Given the description of an element on the screen output the (x, y) to click on. 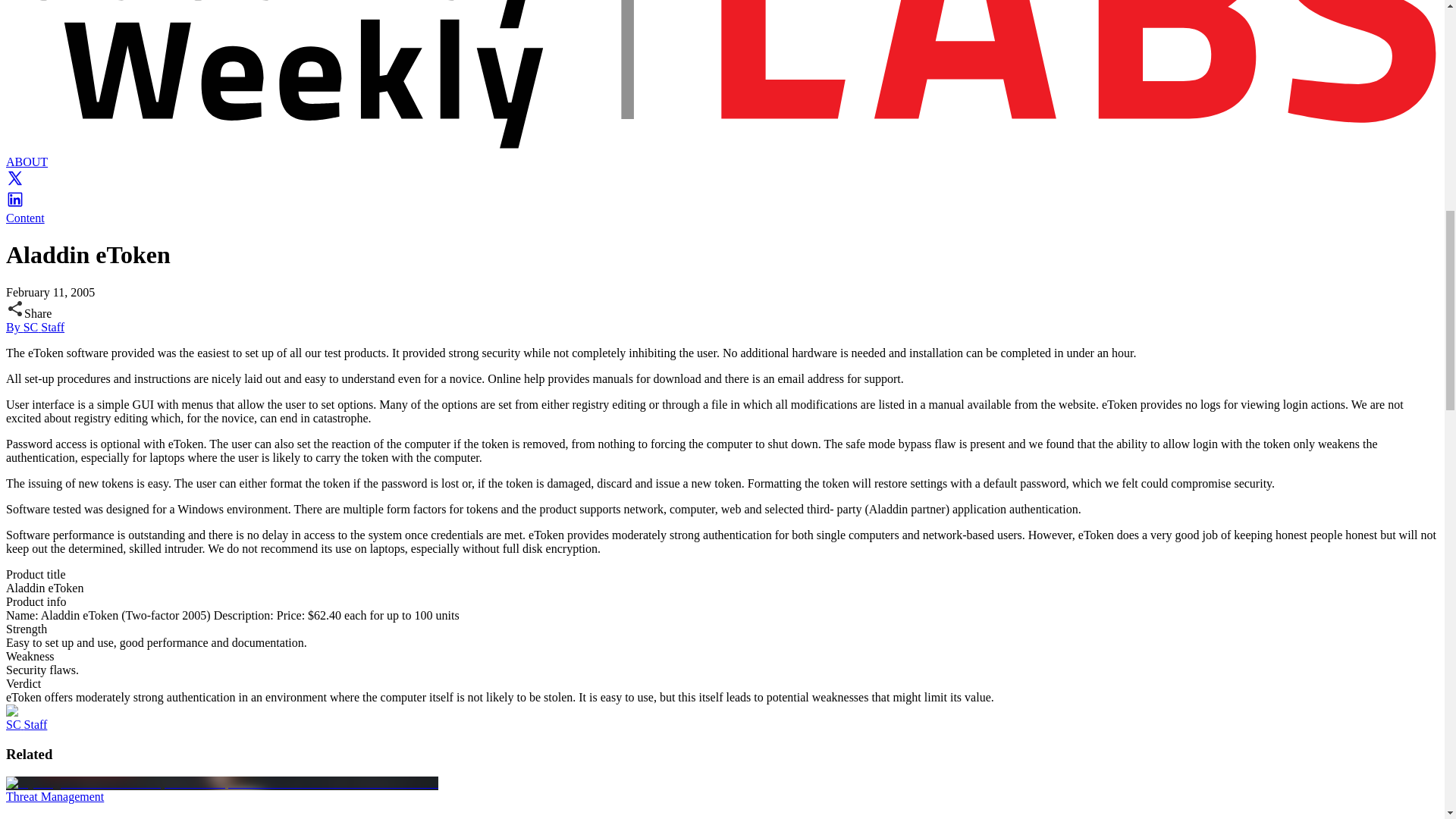
By SC Staff (34, 327)
SC Staff (25, 724)
ABOUT (26, 161)
Threat Management (54, 796)
Content (25, 217)
twitter (14, 182)
linkedin (14, 204)
